Given the description of an element on the screen output the (x, y) to click on. 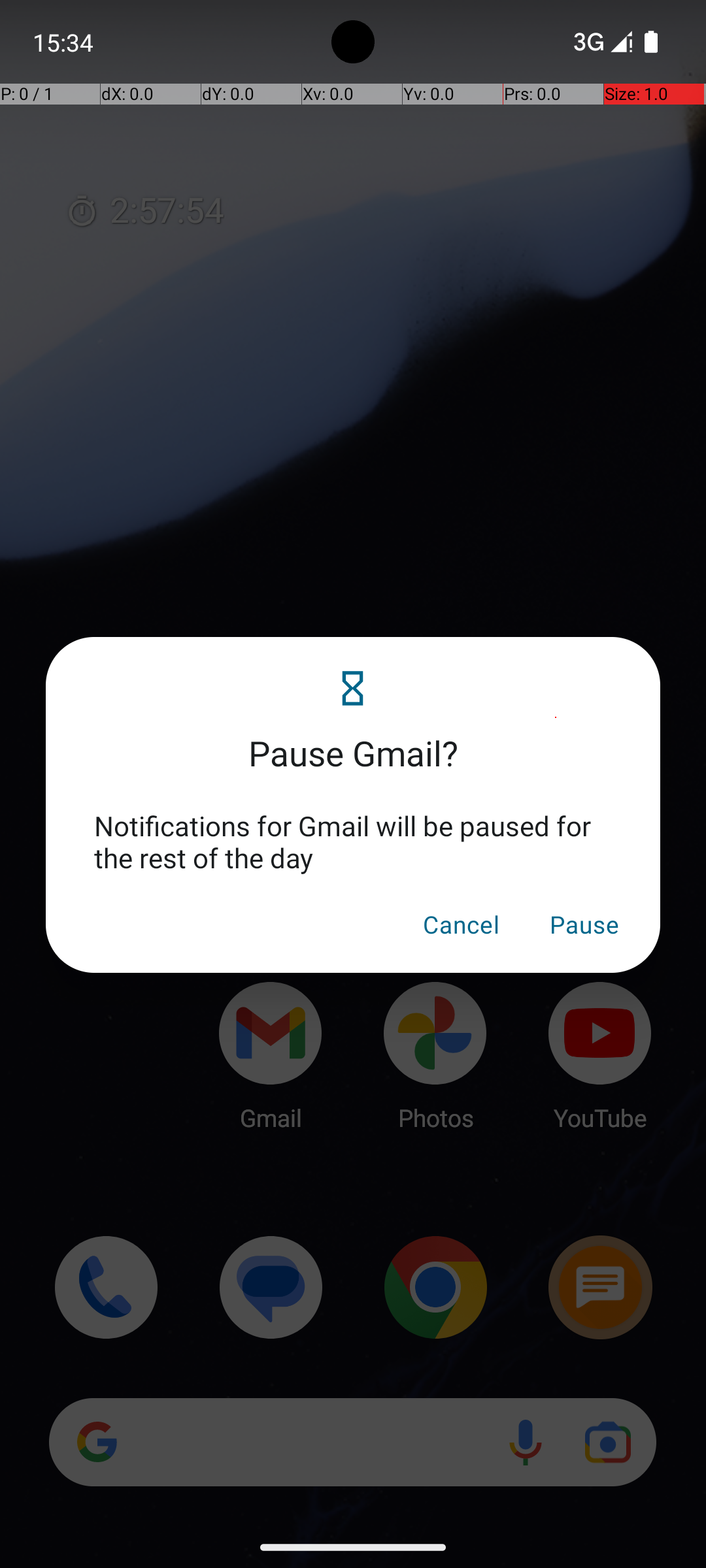
Pause Gmail? Element type: android.widget.TextView (352, 736)
Notifications for Gmail will be paused for the rest of the day Element type: android.widget.TextView (352, 841)
